Given the description of an element on the screen output the (x, y) to click on. 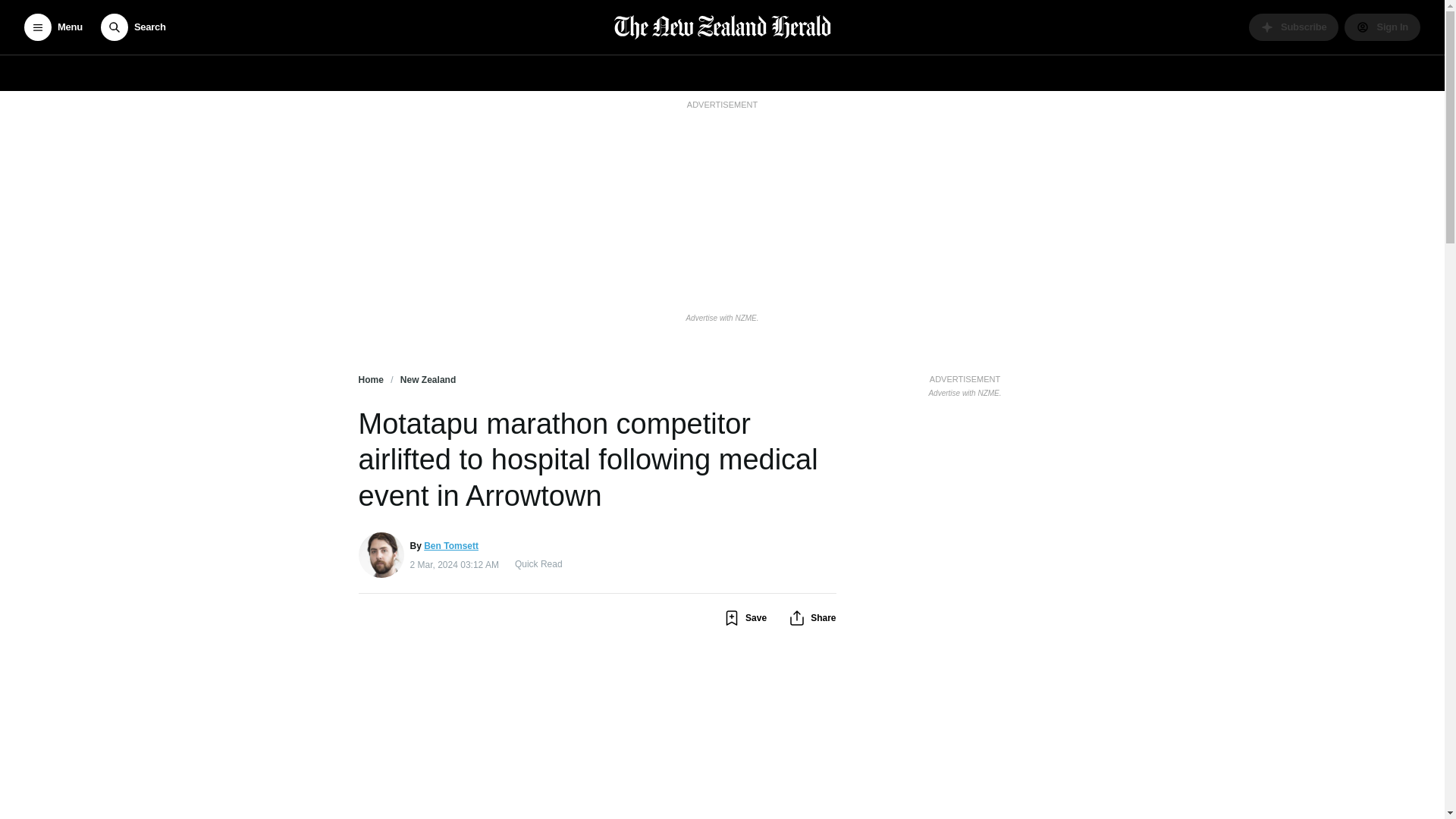
Sign In (1382, 26)
Manage your account (1382, 26)
Menu (53, 26)
Subscribe (1294, 26)
Search (132, 26)
